Given the description of an element on the screen output the (x, y) to click on. 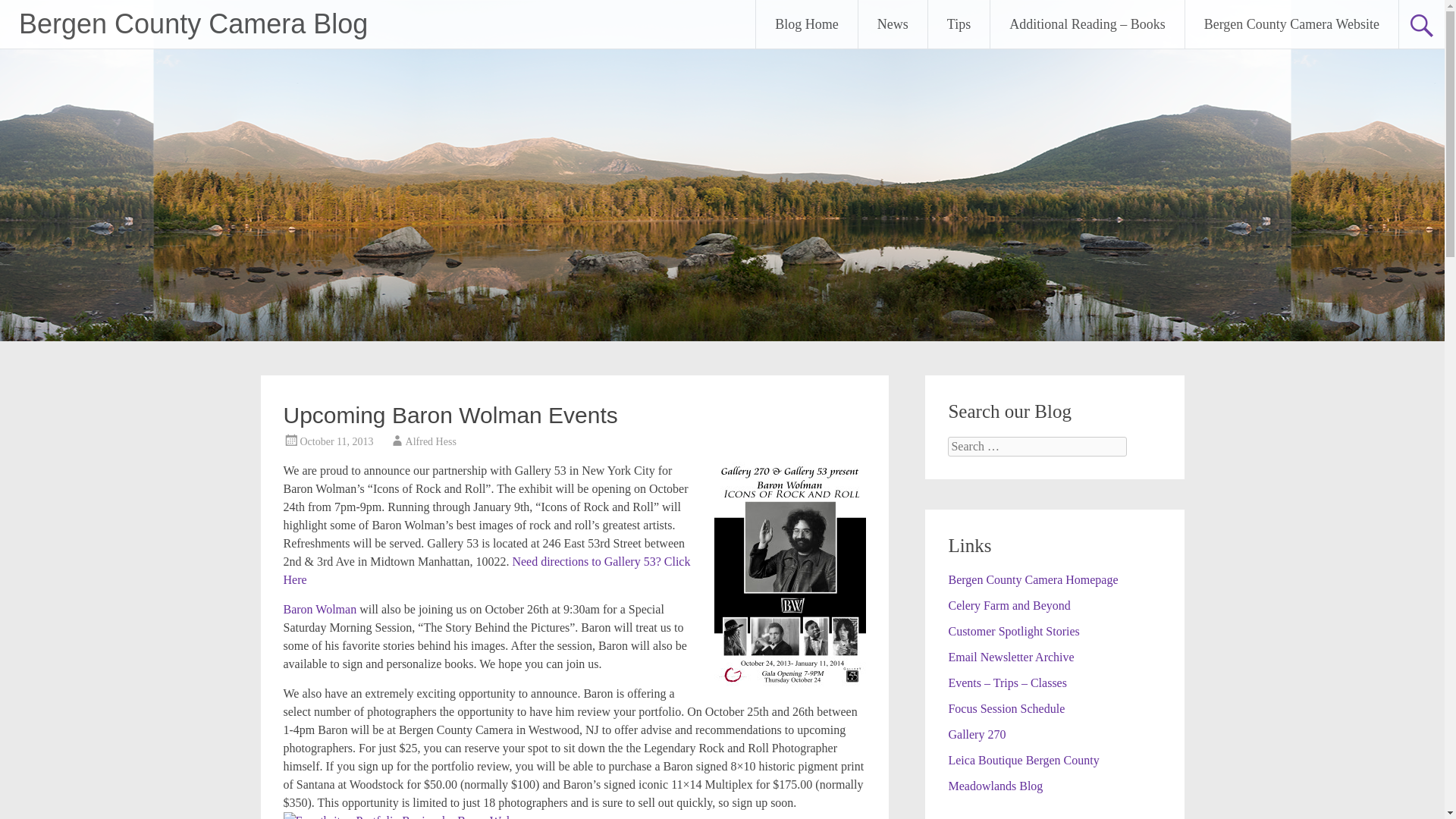
Leica Boutique Bergen County (1023, 759)
Bergen County Camera Blog (193, 23)
News (893, 24)
Need directions to Gallery 53? Click Here (486, 570)
Focus Session Schedule (1005, 707)
Medowlands Blog (994, 785)
Celery Farm and Beyond (1008, 604)
Celery Farm and Beyond Blog (1008, 604)
Email Newsletter Archive (1010, 656)
Tips (959, 24)
